Given the description of an element on the screen output the (x, y) to click on. 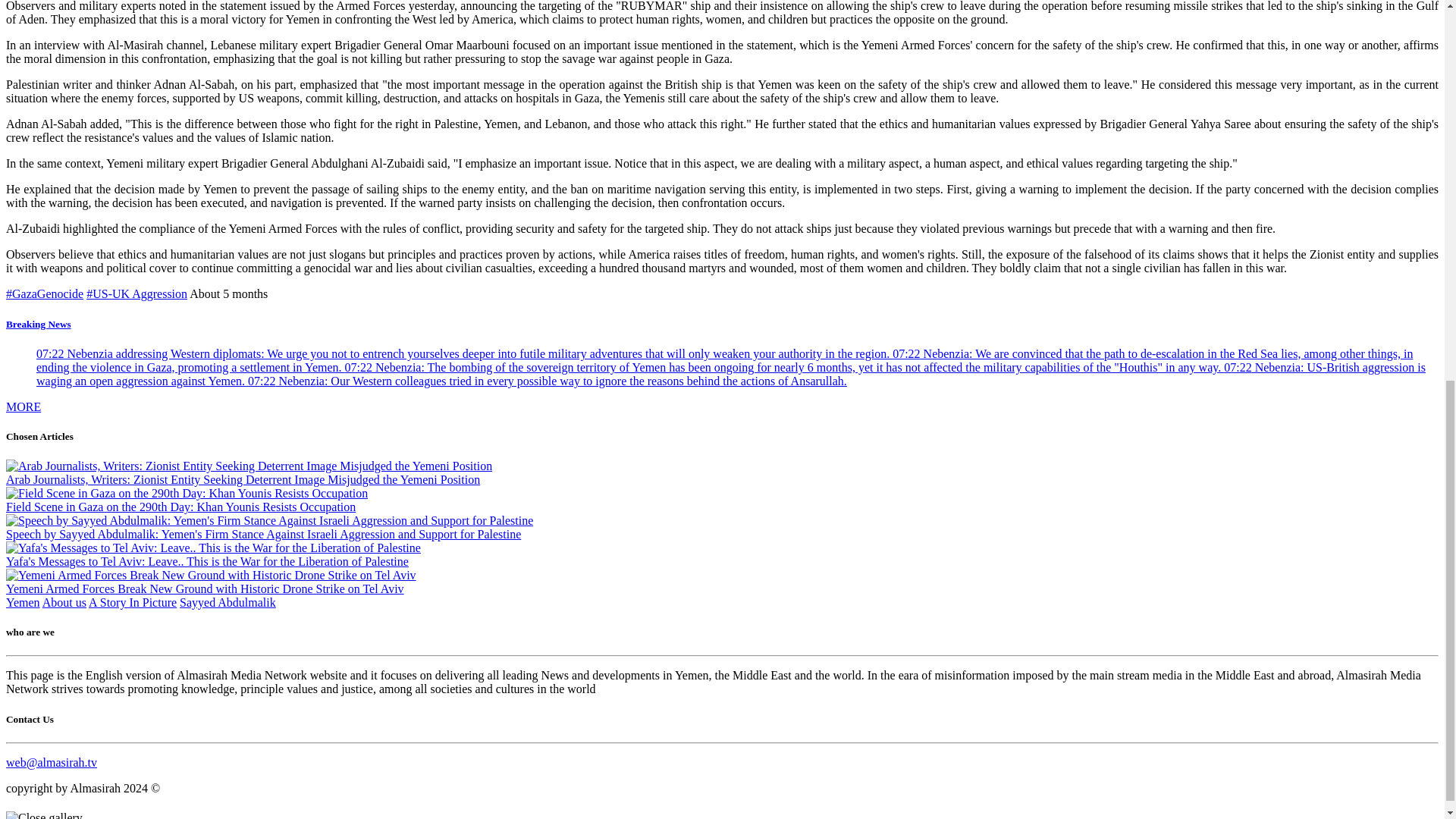
Breaking News (38, 324)
About 5 months (228, 293)
